Given the description of an element on the screen output the (x, y) to click on. 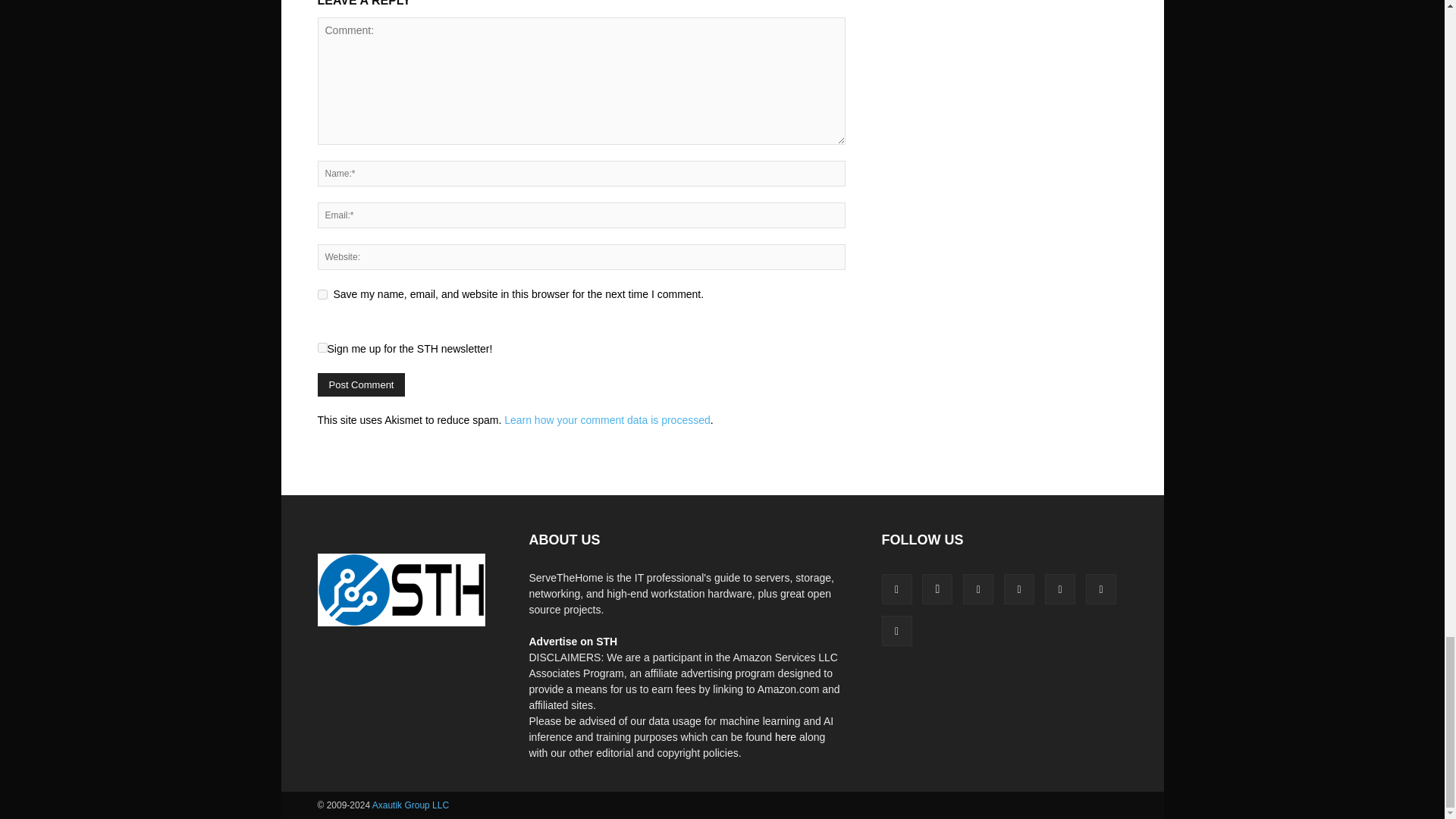
yes (321, 294)
Post Comment (360, 384)
1 (321, 347)
